Given the description of an element on the screen output the (x, y) to click on. 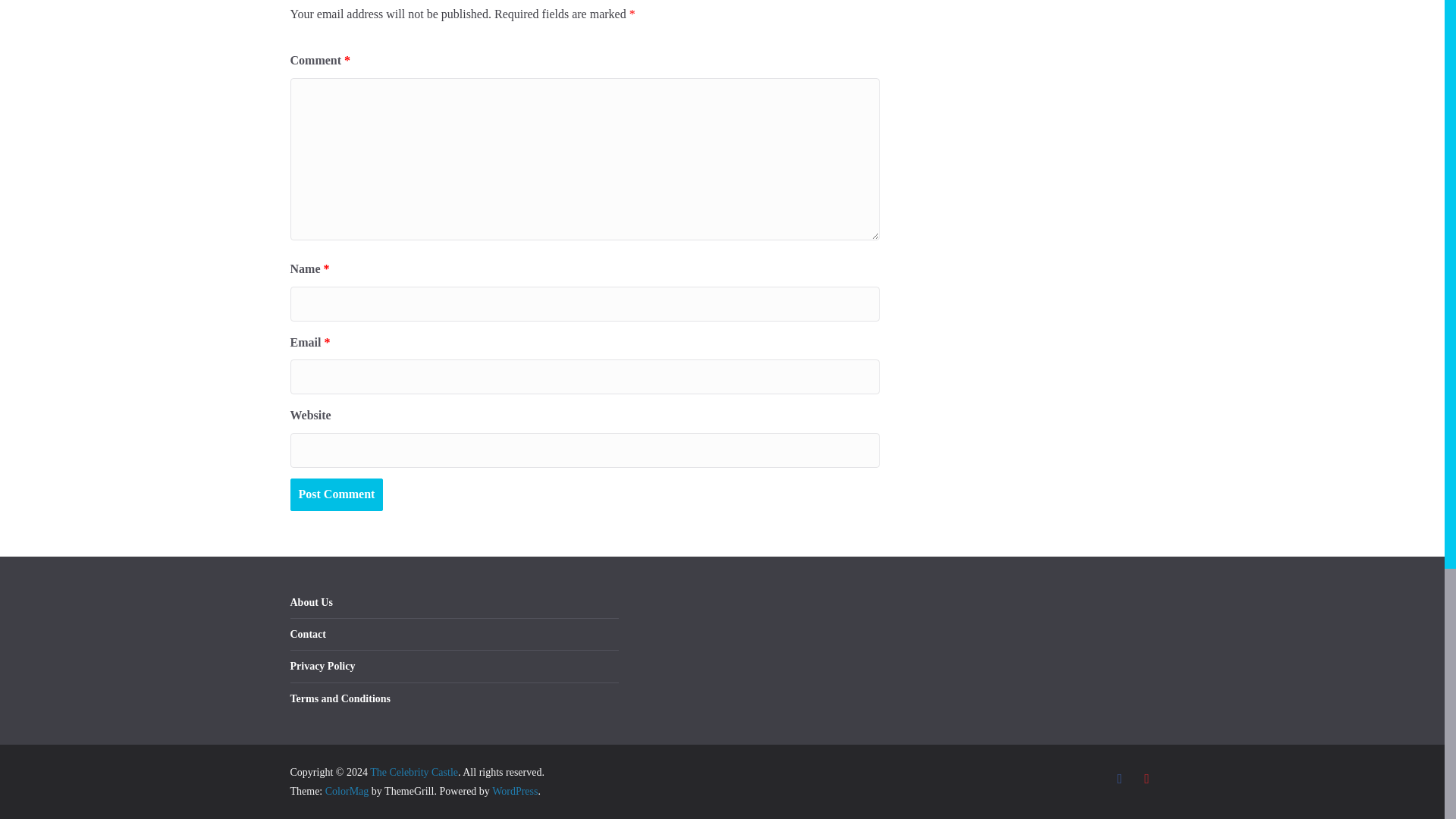
WordPress (514, 790)
Post Comment (335, 494)
ColorMag (346, 790)
The Celebrity Castle (413, 772)
Post Comment (335, 494)
